Given the description of an element on the screen output the (x, y) to click on. 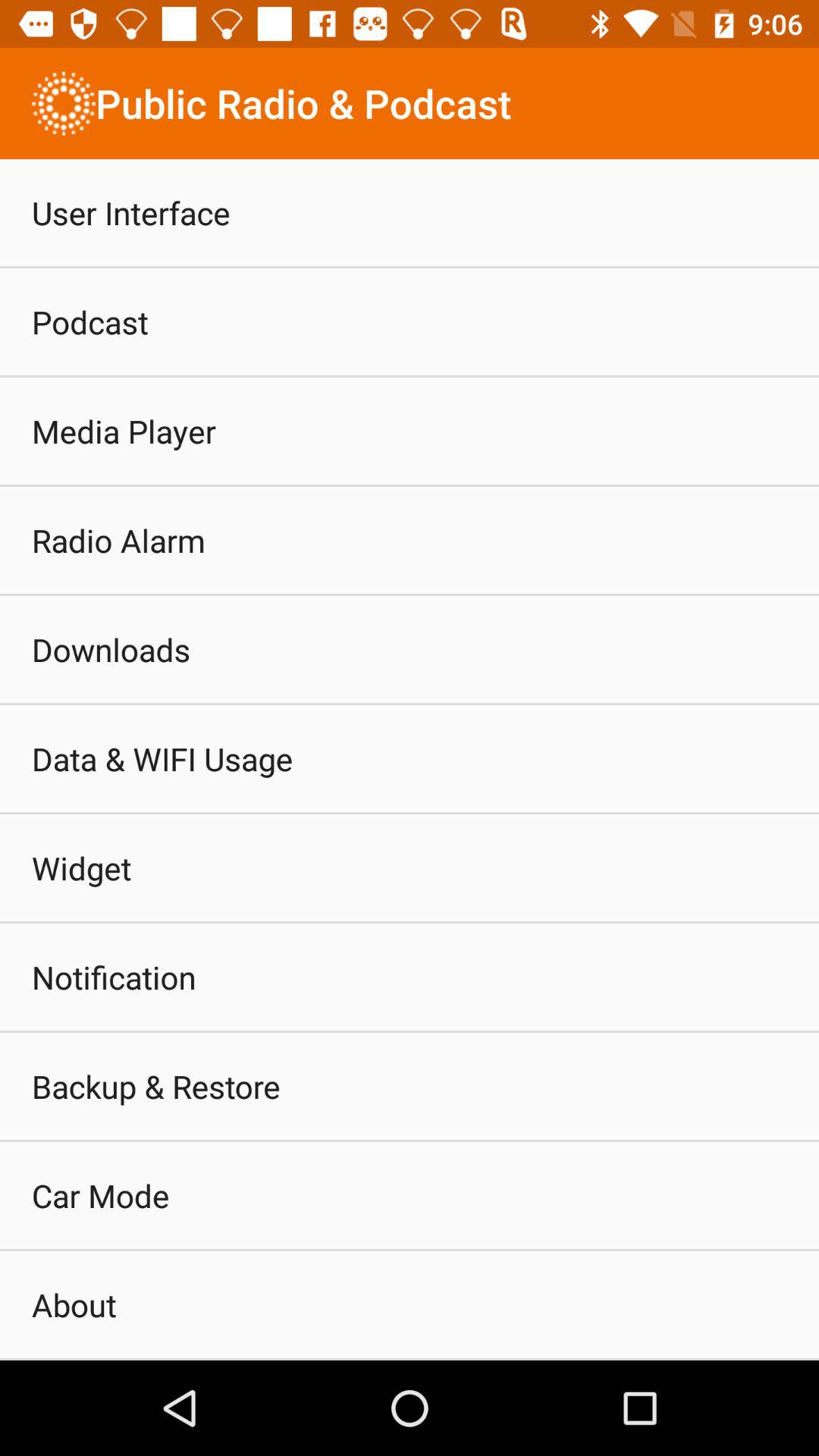
click the data & wifi usage item (161, 758)
